Given the description of an element on the screen output the (x, y) to click on. 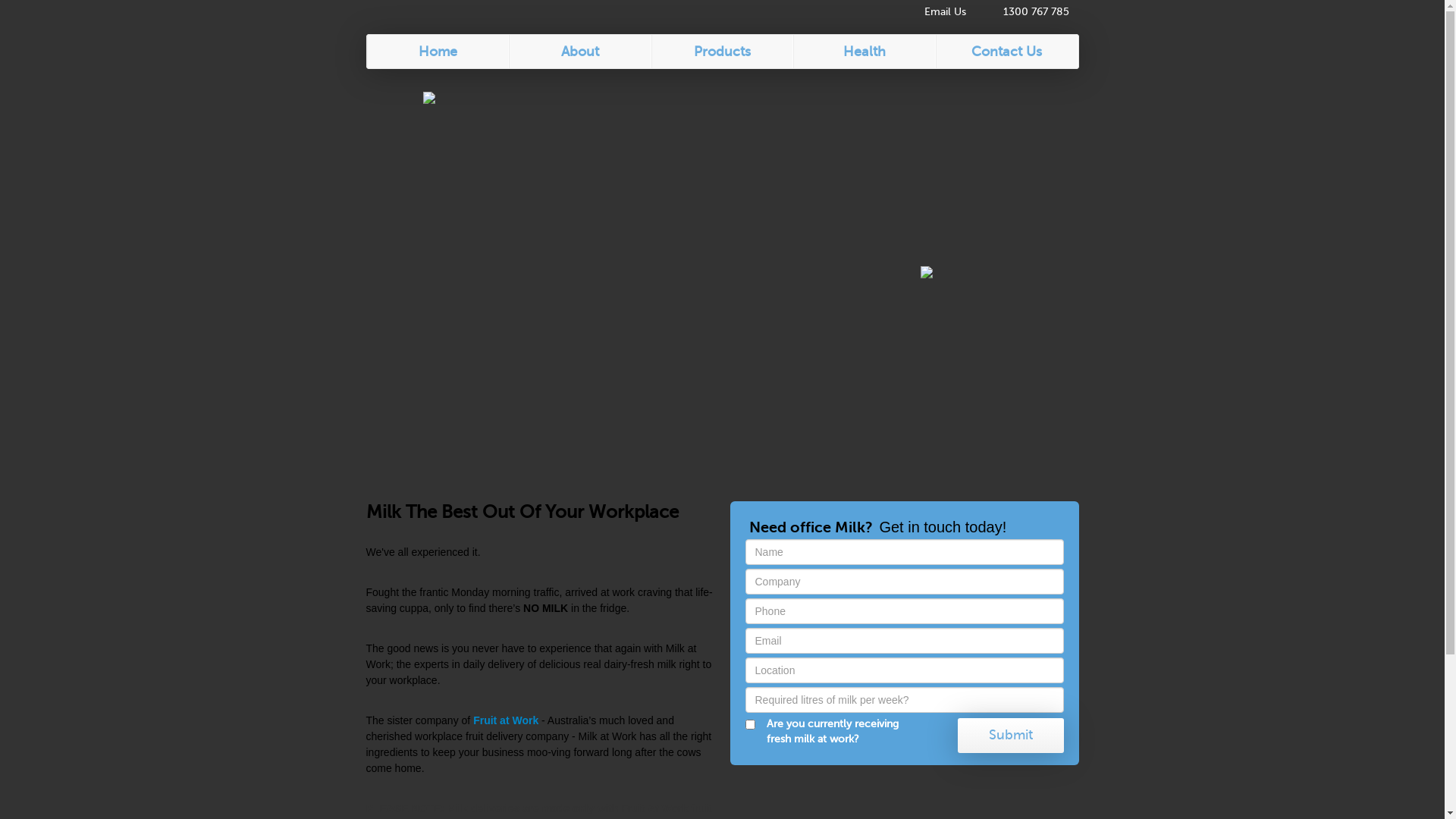
About Element type: text (579, 51)
Health Element type: text (864, 51)
Submit Element type: text (1010, 735)
Fruit at Work Element type: text (505, 720)
Contact Us Element type: text (1006, 51)
Email Us Element type: text (935, 11)
1300 767 785 Element type: text (1026, 11)
Products Element type: text (722, 51)
Home Element type: text (438, 51)
